Given the description of an element on the screen output the (x, y) to click on. 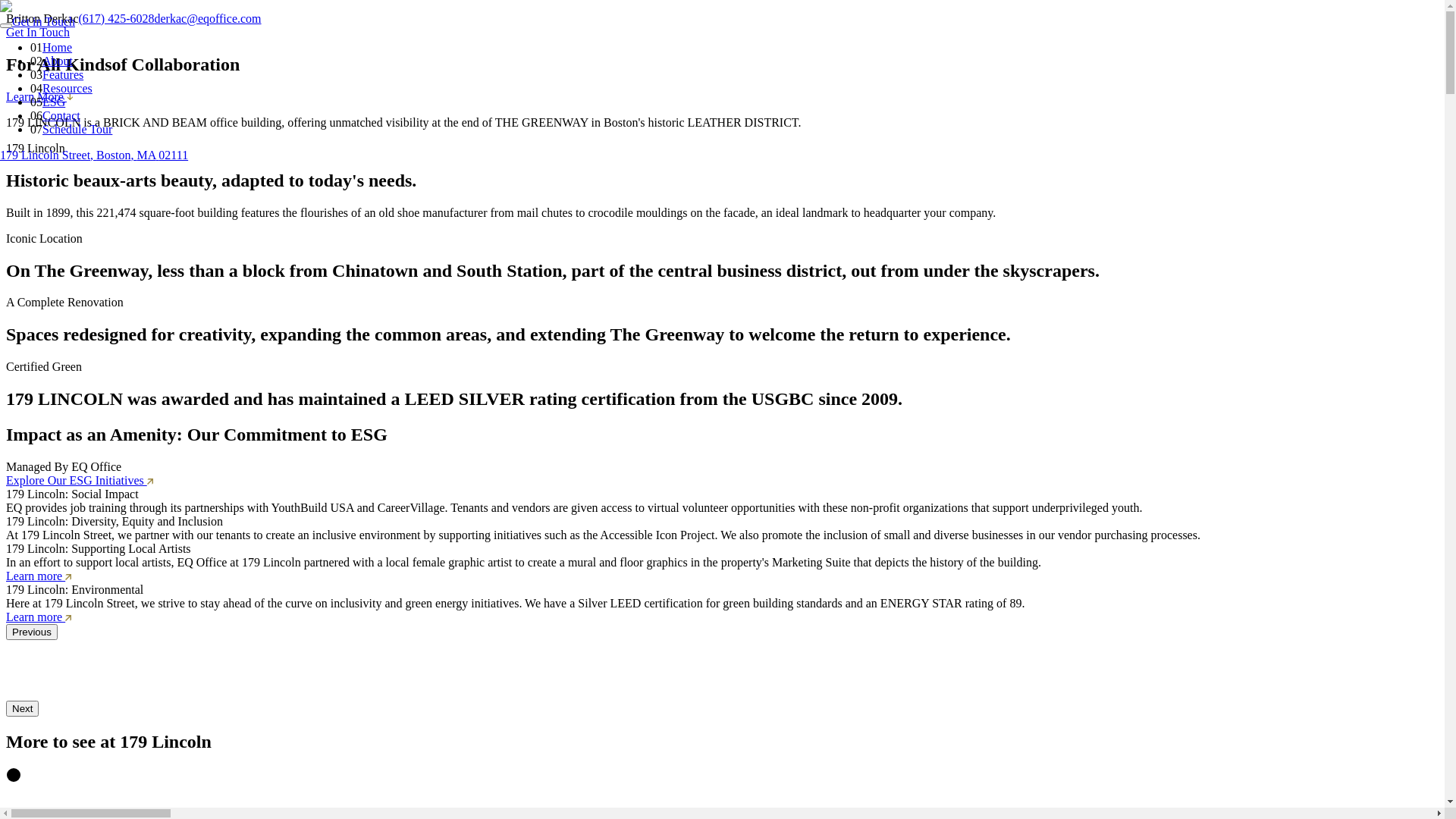
Learn More Element type: text (39, 96)
Resources Element type: text (67, 87)
Features Element type: text (62, 74)
Learn more Element type: text (38, 616)
Home Element type: text (57, 46)
About Element type: text (57, 60)
Schedule Tour Element type: text (77, 128)
(617) 425-6028 Element type: text (116, 18)
Get in Touch Element type: text (43, 21)
Next Element type: text (22, 708)
Get In Touch Element type: text (37, 31)
Explore Our ESG Initiatives Element type: text (79, 479)
179 Lincoln Street, Boston, MA 02111 Element type: text (94, 154)
ESG Element type: text (53, 101)
Learn more Element type: text (38, 575)
derkac@eqoffice.com Element type: text (207, 18)
Contact Element type: text (61, 115)
Previous Element type: text (31, 632)
